Given the description of an element on the screen output the (x, y) to click on. 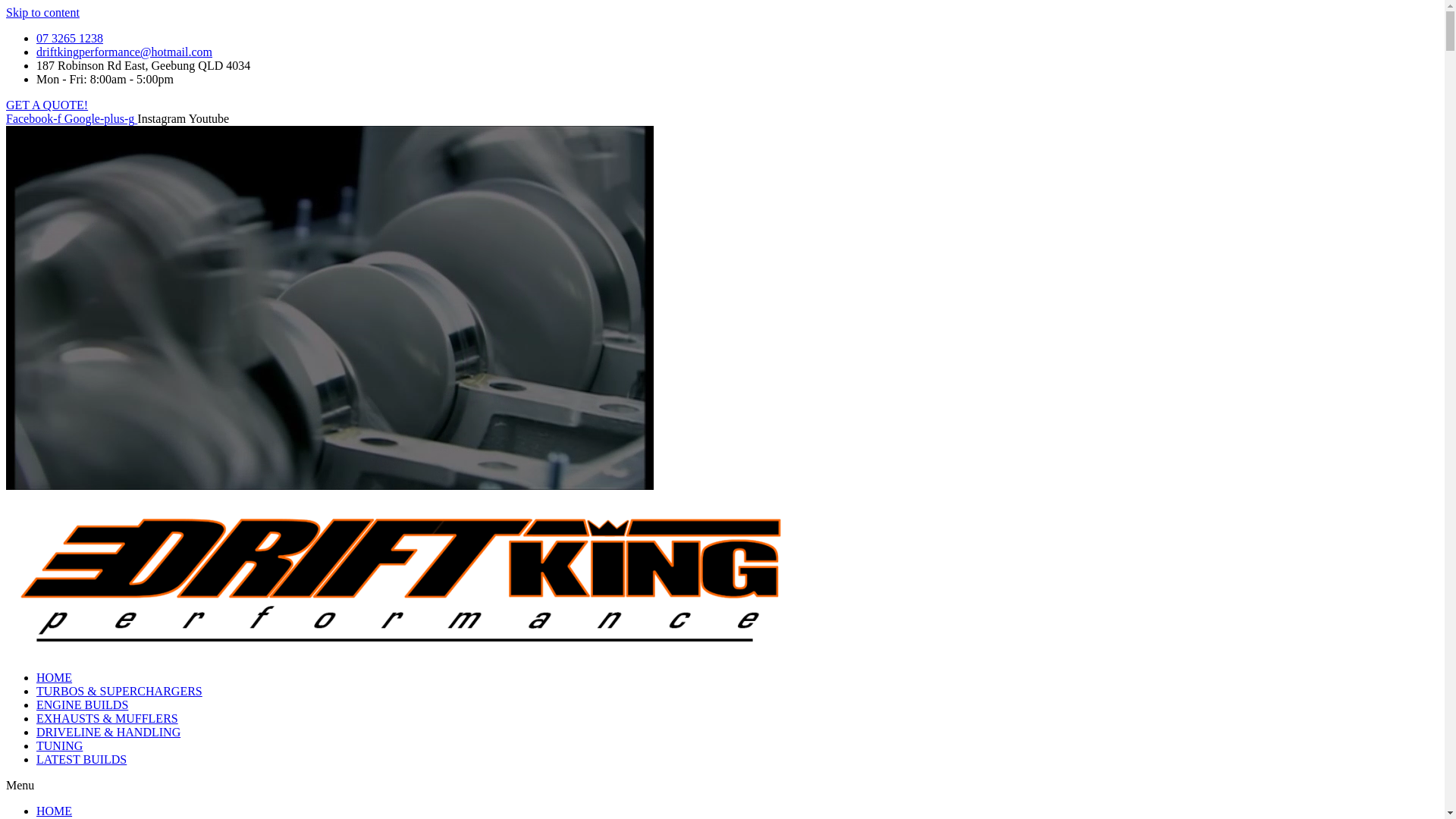
driftkingperformance@hotmail.com Element type: text (124, 51)
EXHAUSTS & MUFFLERS Element type: text (107, 718)
TURBOS & SUPERCHARGERS Element type: text (119, 690)
LATEST BUILDS Element type: text (81, 759)
07 3265 1238 Element type: text (69, 37)
Google-plus-g Element type: text (100, 118)
DRIVELINE & HANDLING Element type: text (108, 731)
ENGINE BUILDS Element type: text (82, 704)
Instagram Element type: text (162, 118)
TUNING Element type: text (59, 745)
Youtube Element type: text (208, 118)
HOME Element type: text (54, 677)
HOME Element type: text (54, 810)
Skip to content Element type: text (42, 12)
Facebook-f Element type: text (35, 118)
GET A QUOTE! Element type: text (46, 104)
